Given the description of an element on the screen output the (x, y) to click on. 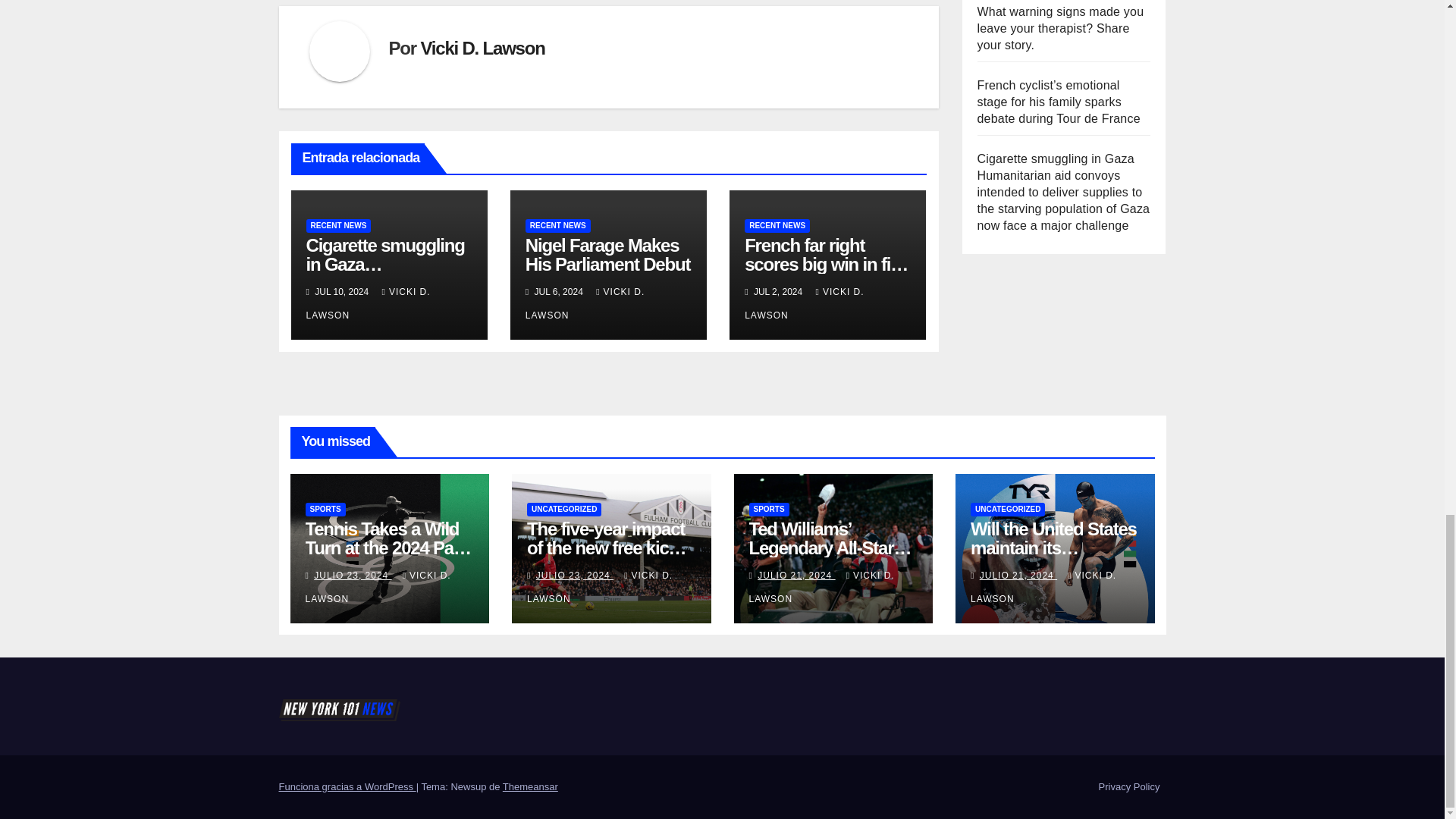
Vicki D. Lawson (482, 47)
VICKI D. LAWSON (367, 303)
RECENT NEWS (338, 225)
Permalink to: Nigel Farage Makes His Parliament Debut (607, 254)
RECENT NEWS (776, 225)
Nigel Farage Makes His Parliament Debut (607, 254)
RECENT NEWS (558, 225)
VICKI D. LAWSON (585, 303)
